Given the description of an element on the screen output the (x, y) to click on. 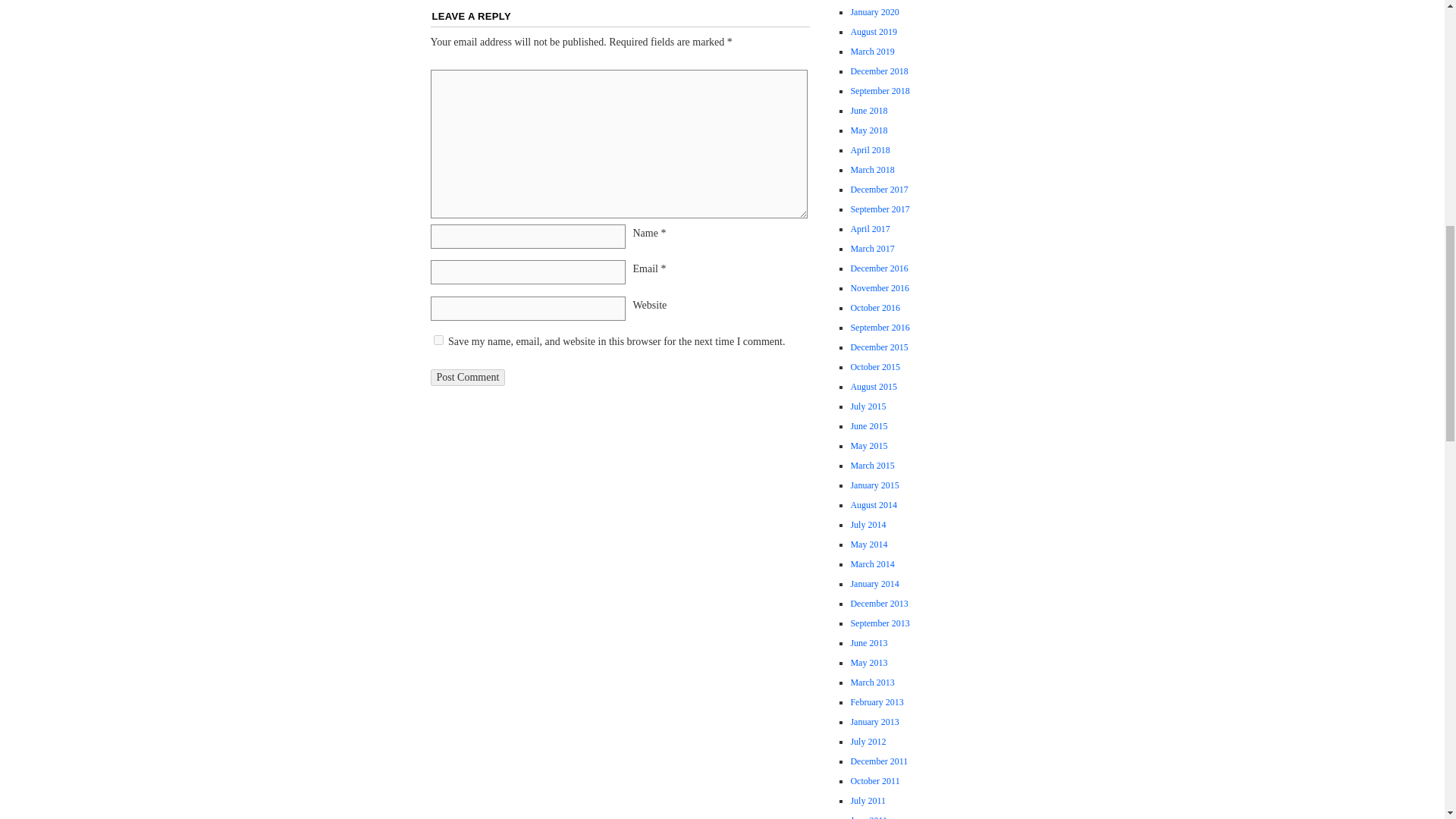
Post Comment (467, 377)
yes (438, 339)
September 2018 (879, 90)
August 2019 (873, 31)
April 2018 (869, 149)
December 2018 (878, 71)
March 2019 (871, 50)
May 2018 (868, 130)
June 2018 (868, 110)
January 2020 (874, 11)
